Given the description of an element on the screen output the (x, y) to click on. 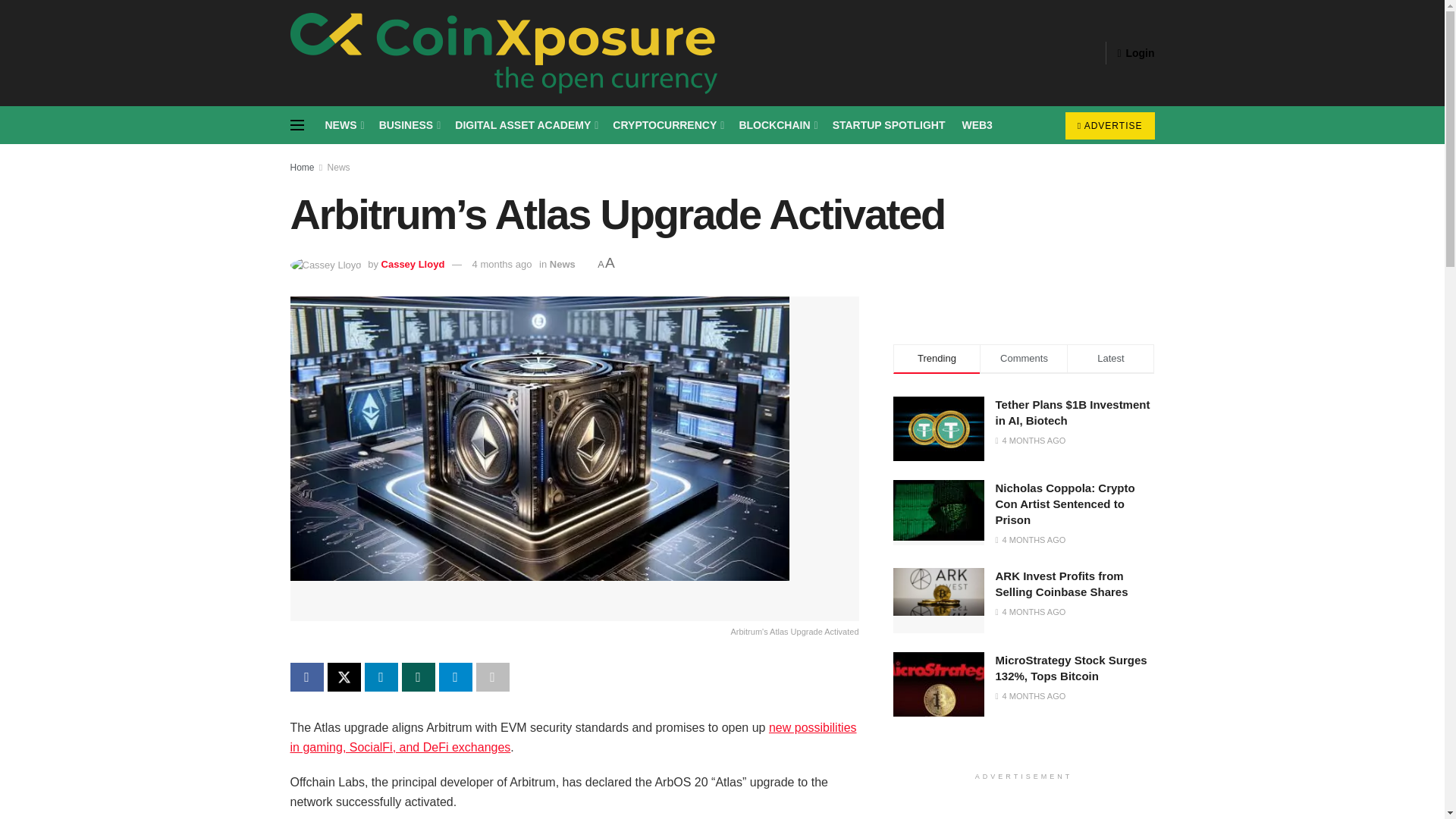
BUSINESS (408, 125)
CRYPTOCURRENCY (667, 125)
ADVERTISE (1109, 125)
DIGITAL ASSET ACADEMY (524, 125)
NEWS (342, 125)
ARK Invest Profits from Selling Coinbase Shares (938, 591)
Nicholas Coppola: Crypto Con Artist Sentenced to Prison (938, 509)
STARTUP SPOTLIGHT (888, 125)
Login (1135, 53)
BLOCKCHAIN (776, 125)
